Given the description of an element on the screen output the (x, y) to click on. 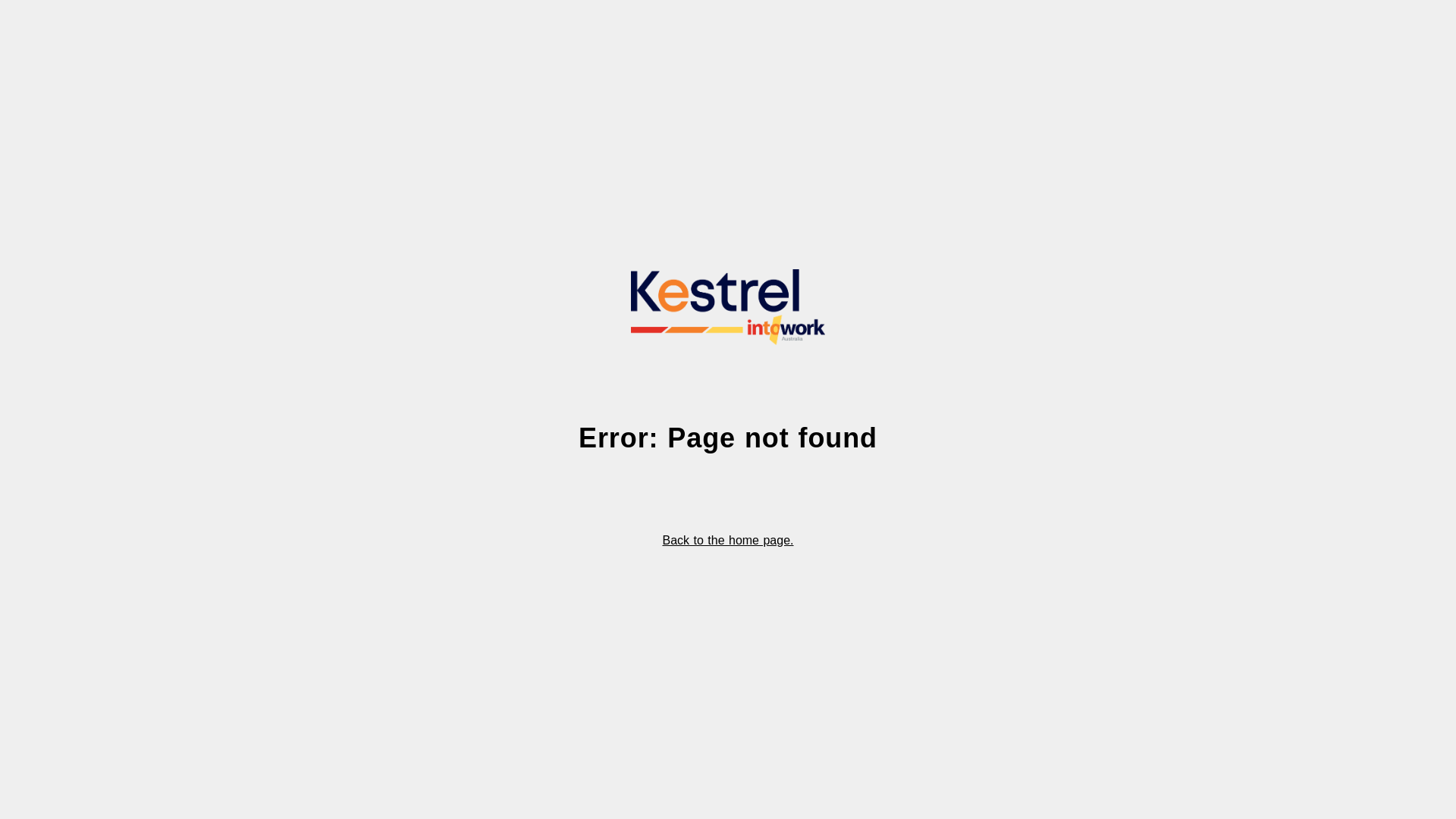
Back to the home page. Element type: text (727, 540)
